Given the description of an element on the screen output the (x, y) to click on. 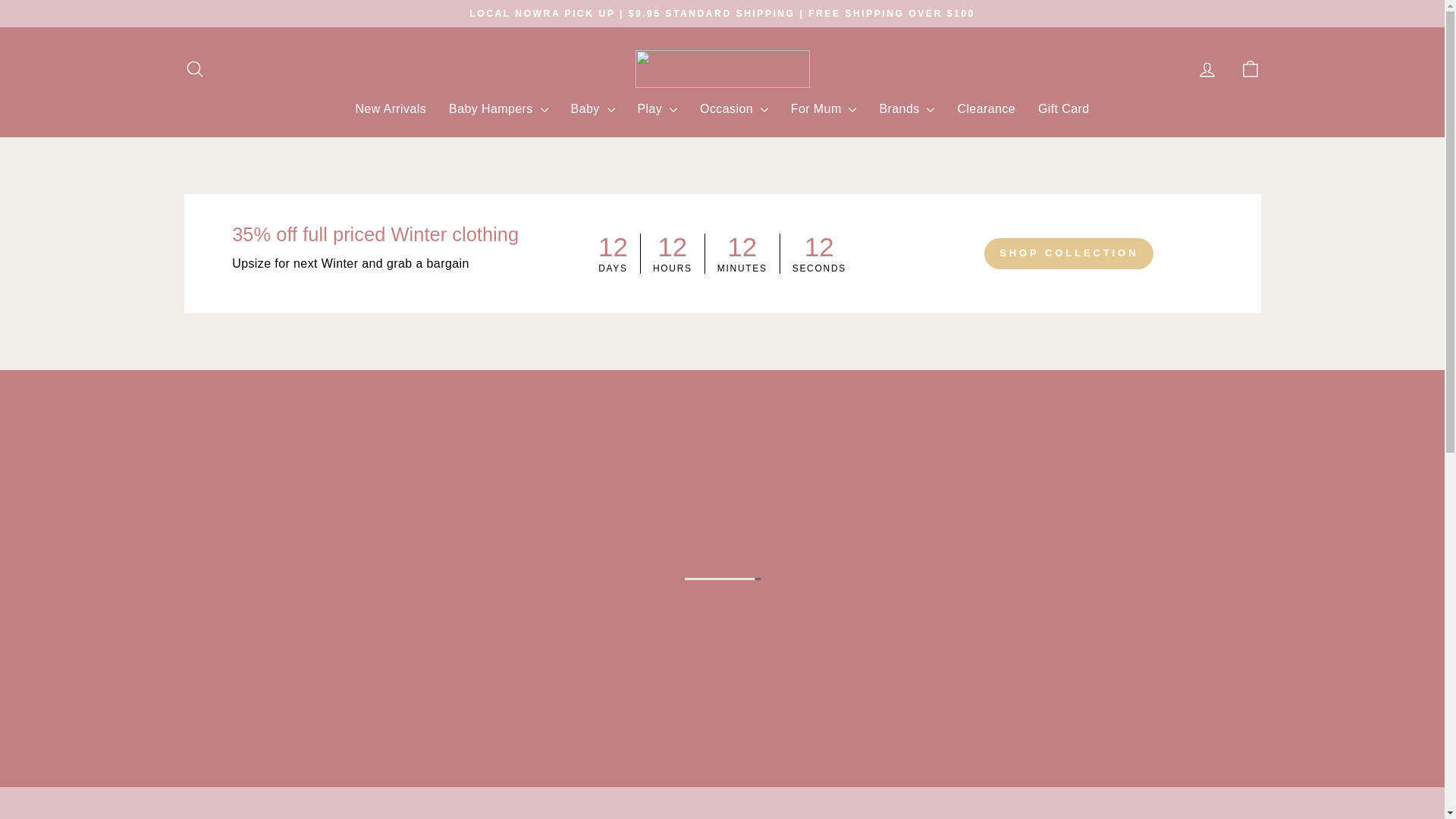
account (1206, 69)
icon-bag-minimal (1249, 68)
icon-search (194, 68)
